Given the description of an element on the screen output the (x, y) to click on. 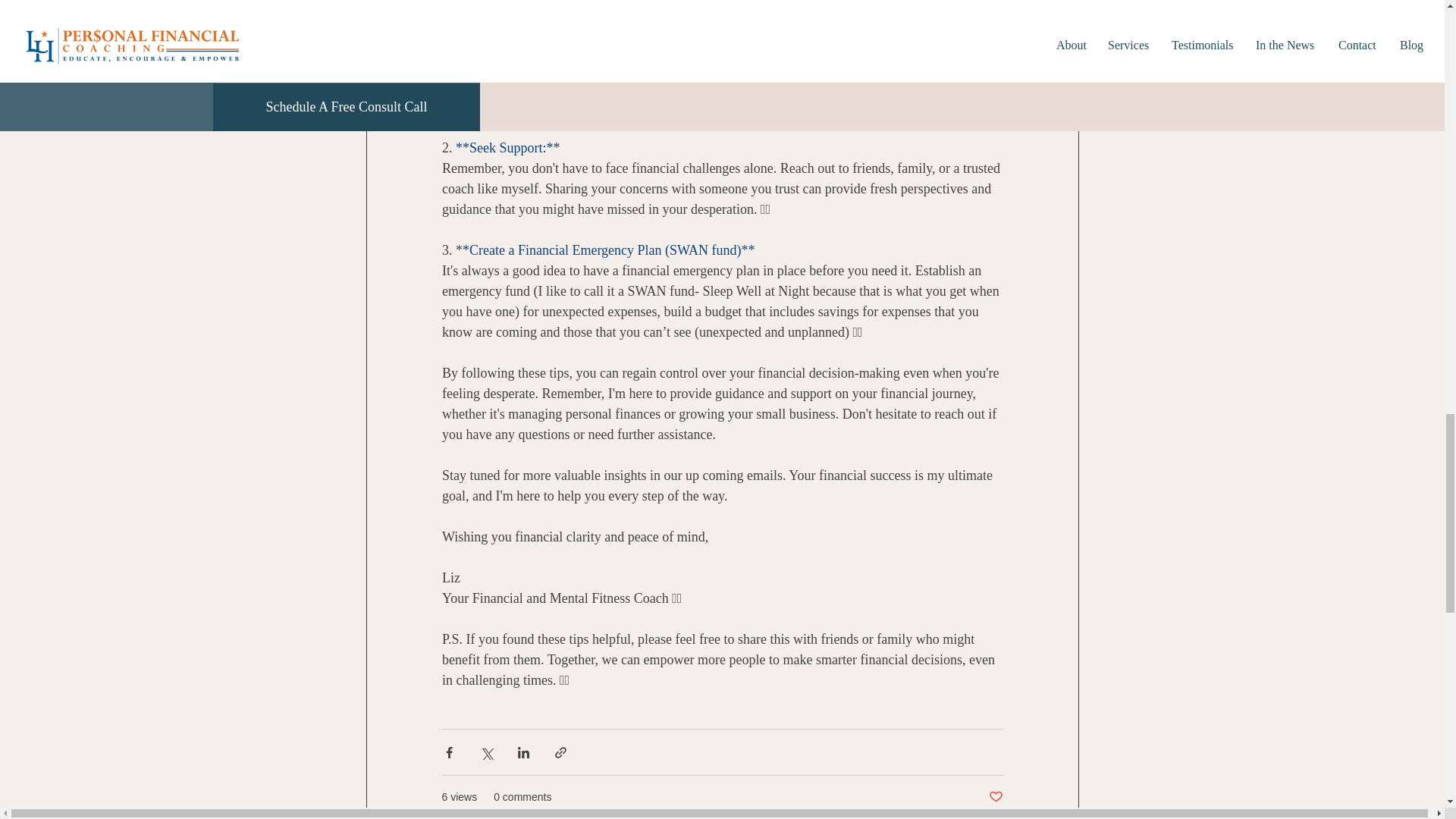
Post not marked as liked (995, 797)
